Given the description of an element on the screen output the (x, y) to click on. 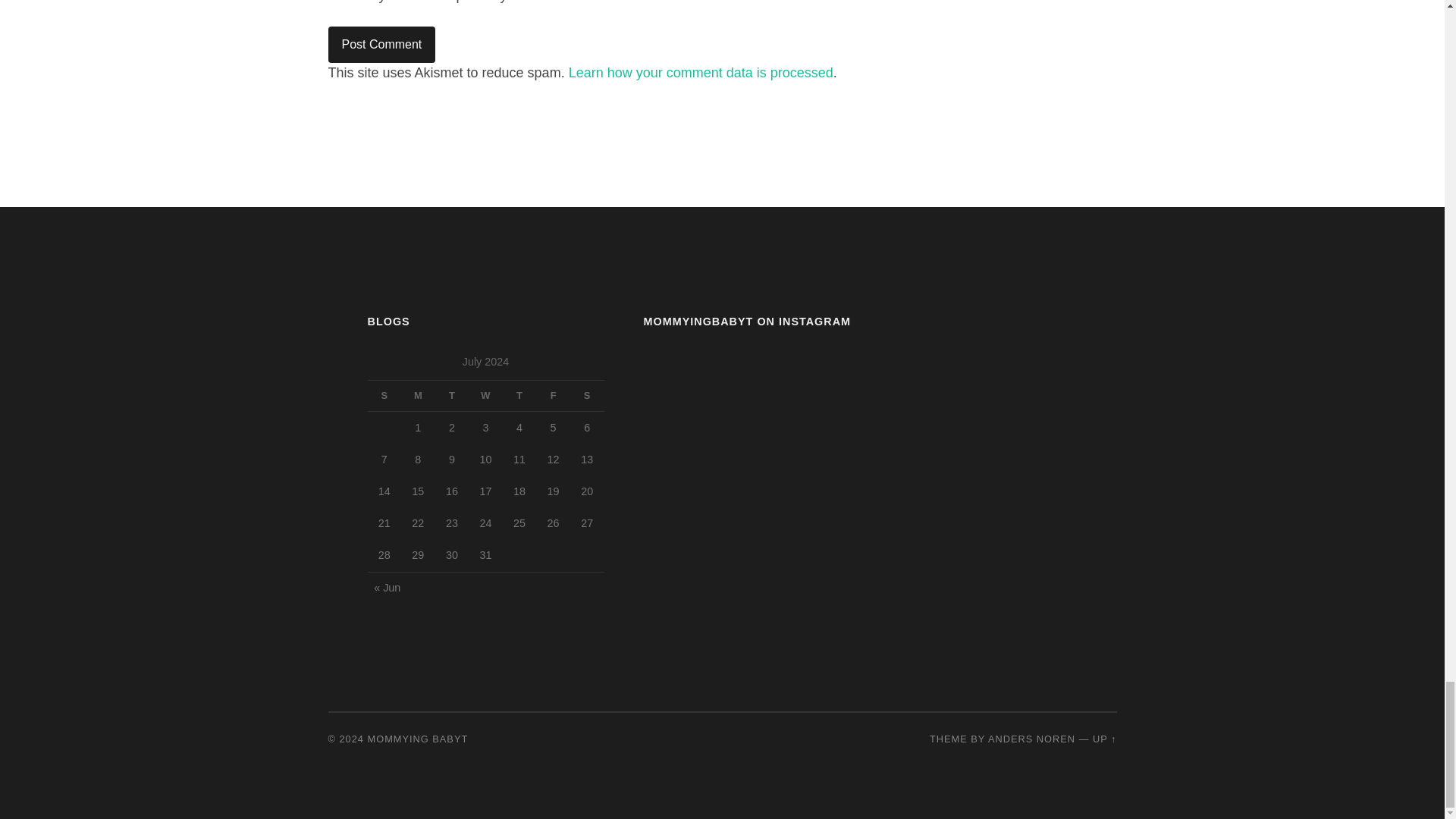
Monday (418, 395)
Friday (552, 395)
Post Comment (381, 44)
Sunday (383, 395)
Tuesday (451, 395)
Wednesday (485, 395)
Thursday (519, 395)
